Given the description of an element on the screen output the (x, y) to click on. 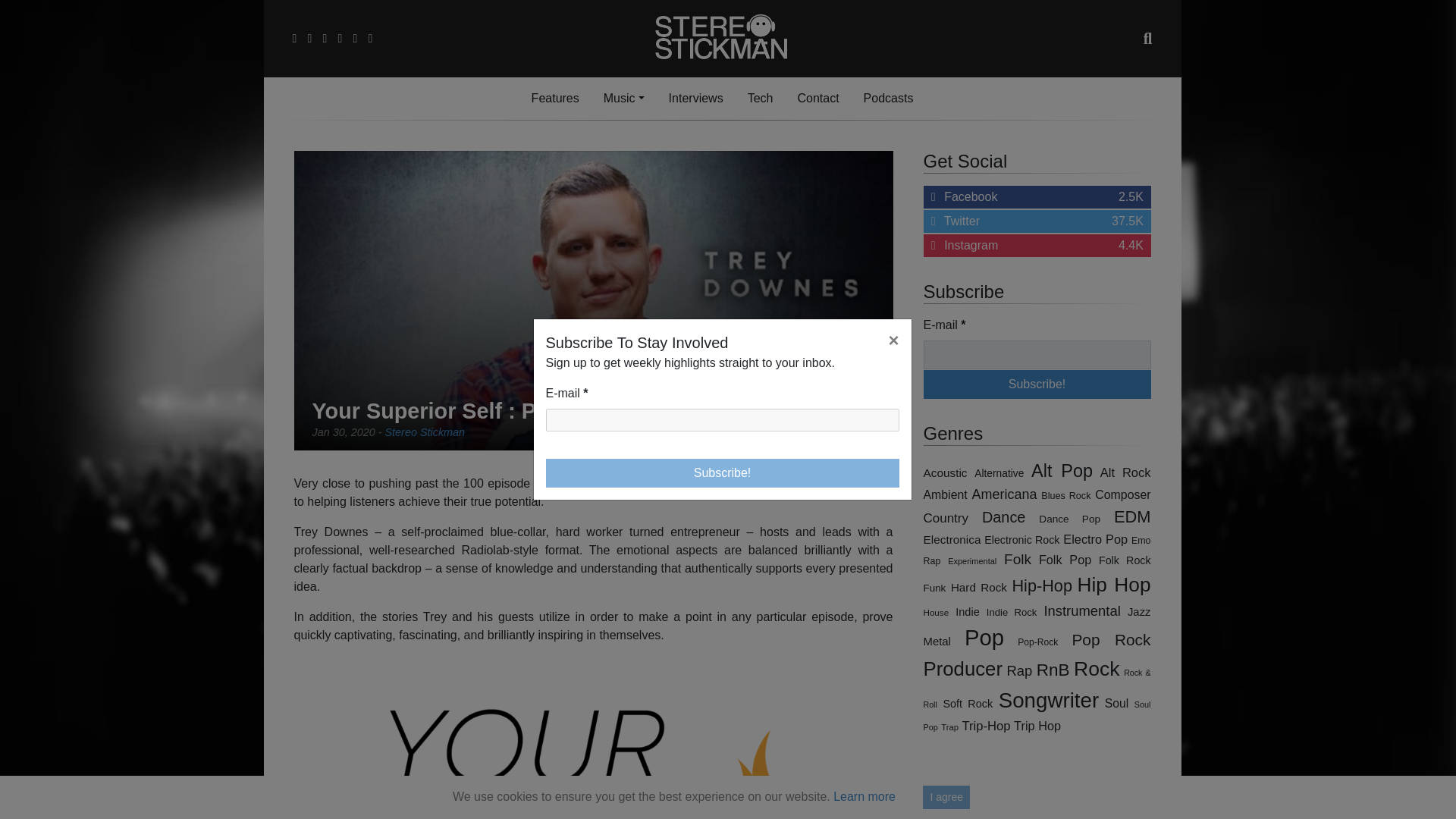
Music (623, 98)
Contact (1037, 245)
Subscribe! (817, 98)
Music (1037, 384)
E-mail (1037, 220)
Subscribe! (623, 98)
Tech (1037, 354)
Acoustic (1037, 384)
E-mail (760, 98)
Alternative (945, 472)
Tech (722, 419)
Podcasts (998, 473)
